Given the description of an element on the screen output the (x, y) to click on. 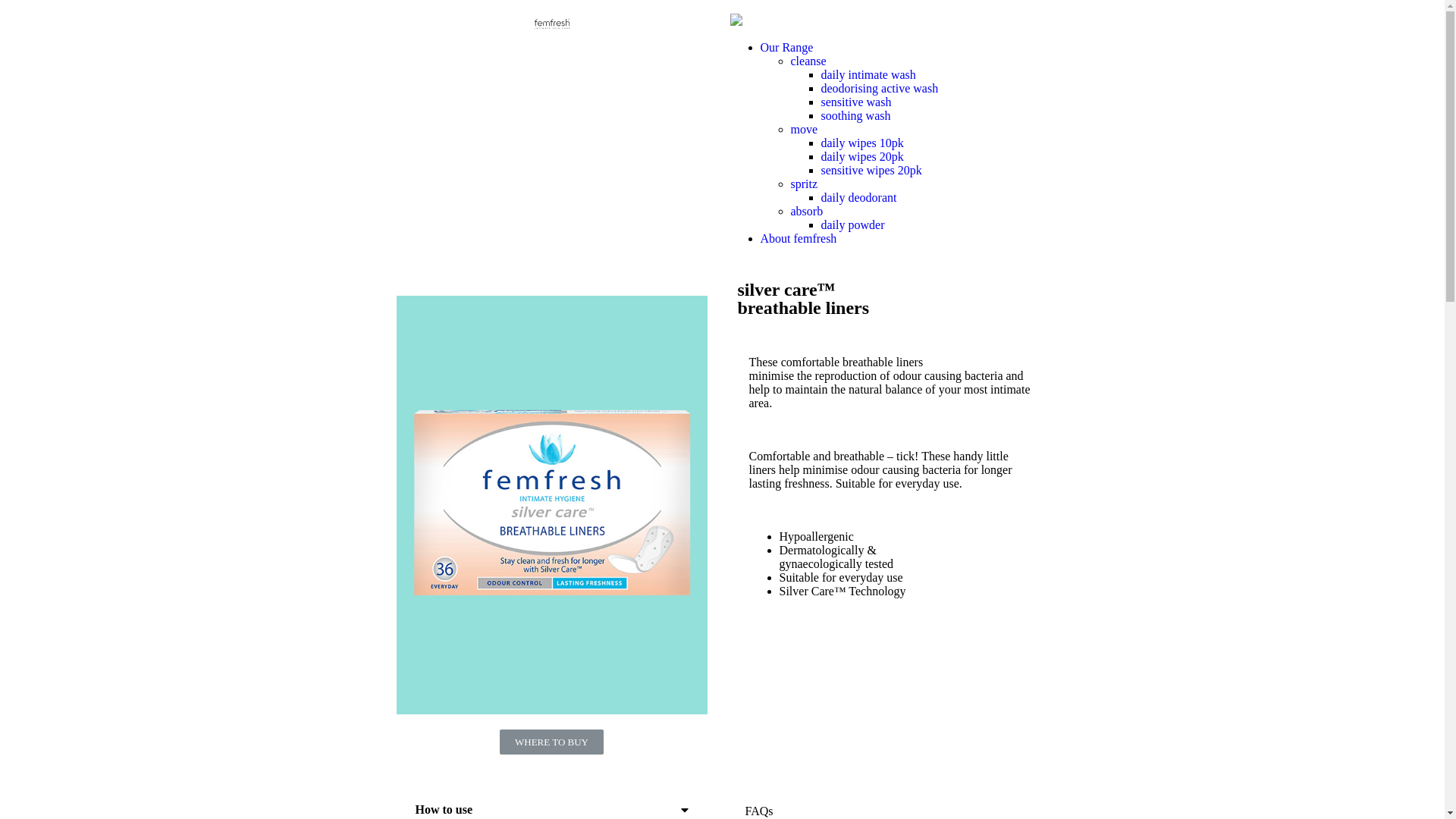
move Element type: text (803, 128)
daily wipes 20pk Element type: text (861, 156)
absorb Element type: text (806, 210)
About femfresh Element type: text (797, 238)
soothing wash Element type: text (855, 115)
deodorising active wash Element type: text (879, 87)
daily wipes 10pk Element type: text (861, 142)
WHERE TO BUY Element type: text (551, 741)
How to use Element type: text (444, 809)
sensitive wipes 20pk Element type: text (870, 169)
Our Range Element type: text (785, 46)
daily intimate wash Element type: text (867, 74)
spritz Element type: text (803, 183)
sensitive wash Element type: text (855, 101)
daily deodorant Element type: text (858, 197)
daily powder Element type: text (852, 224)
cleanse Element type: text (807, 60)
